Given the description of an element on the screen output the (x, y) to click on. 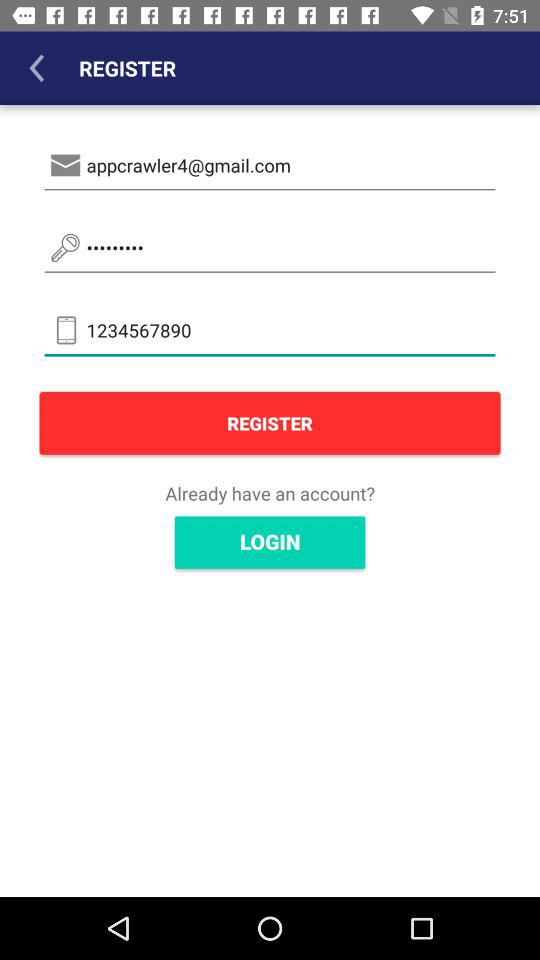
press item below the already have an icon (269, 542)
